Given the description of an element on the screen output the (x, y) to click on. 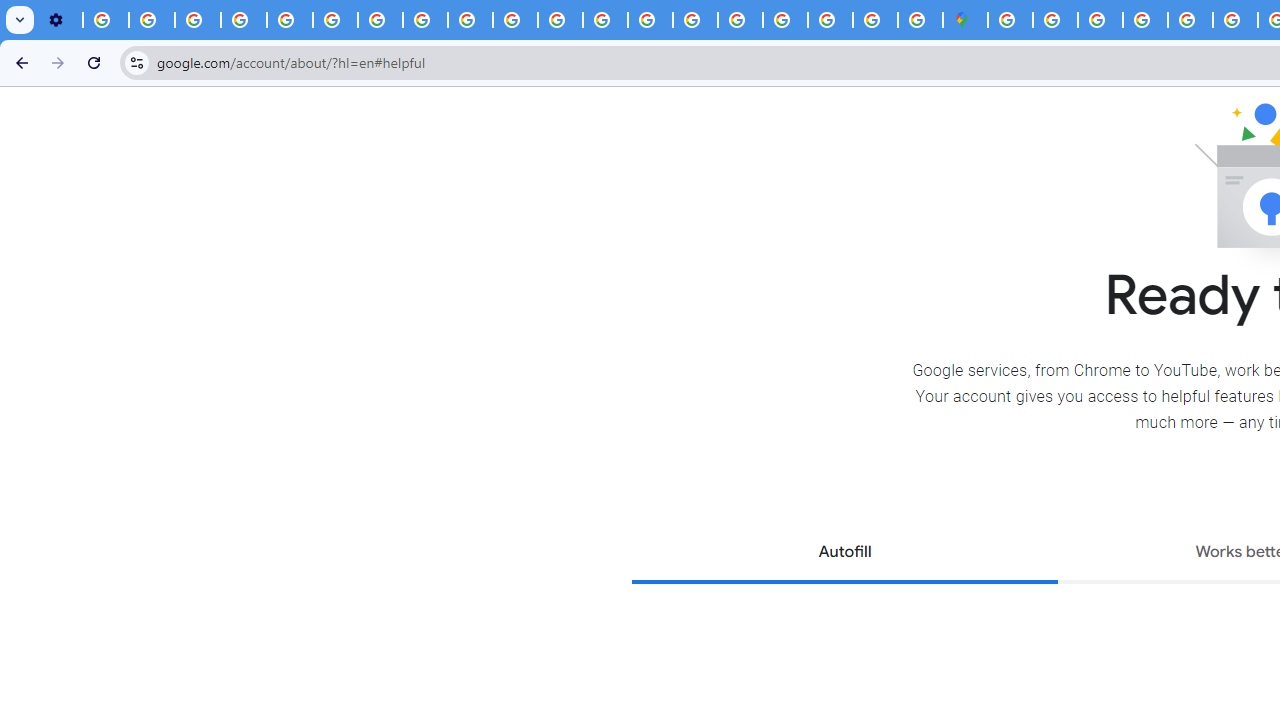
Google Maps (965, 20)
Settings - Customize profile (60, 20)
YouTube (335, 20)
